Given the description of an element on the screen output the (x, y) to click on. 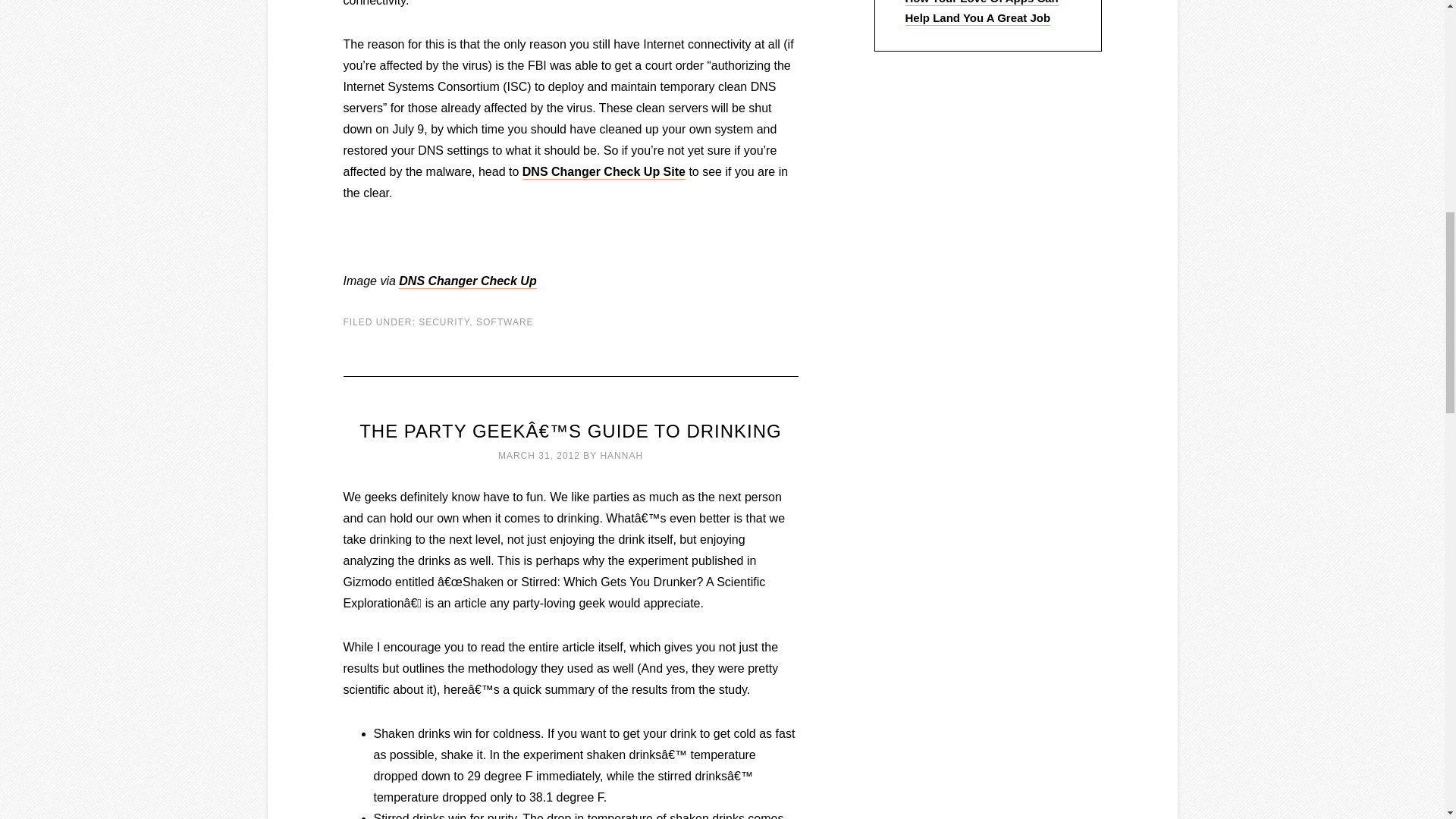
How Your Love Of Apps Can Help Land You A Great Job (981, 12)
SOFTWARE (505, 321)
DNS Changer Check Up (466, 281)
SECURITY (443, 321)
DNS Changer Check Up Site (603, 172)
HANNAH (621, 455)
